Given the description of an element on the screen output the (x, y) to click on. 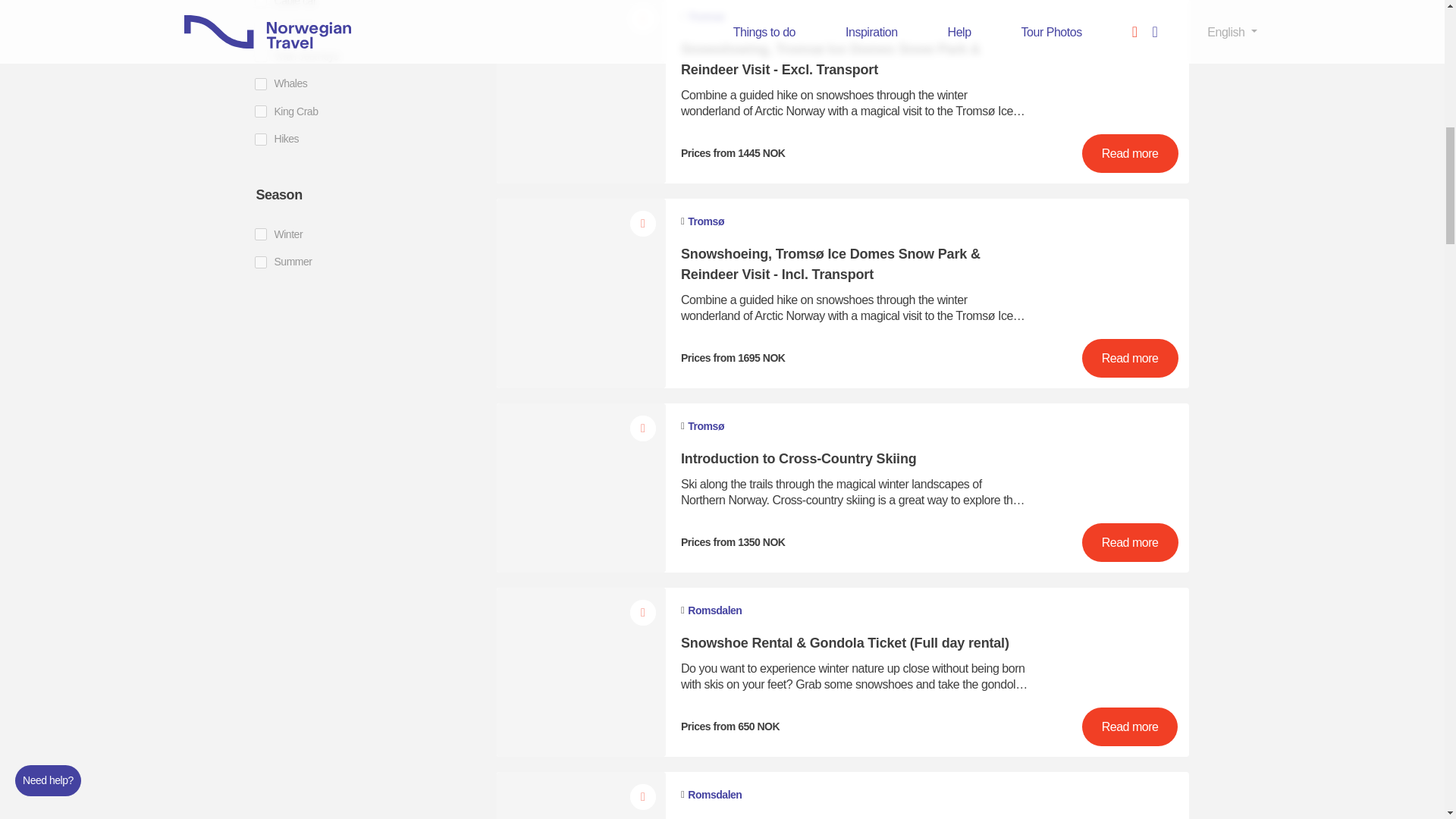
Read more (1129, 542)
Read more (1129, 358)
Read more (1129, 153)
Read more (1129, 726)
